Given the description of an element on the screen output the (x, y) to click on. 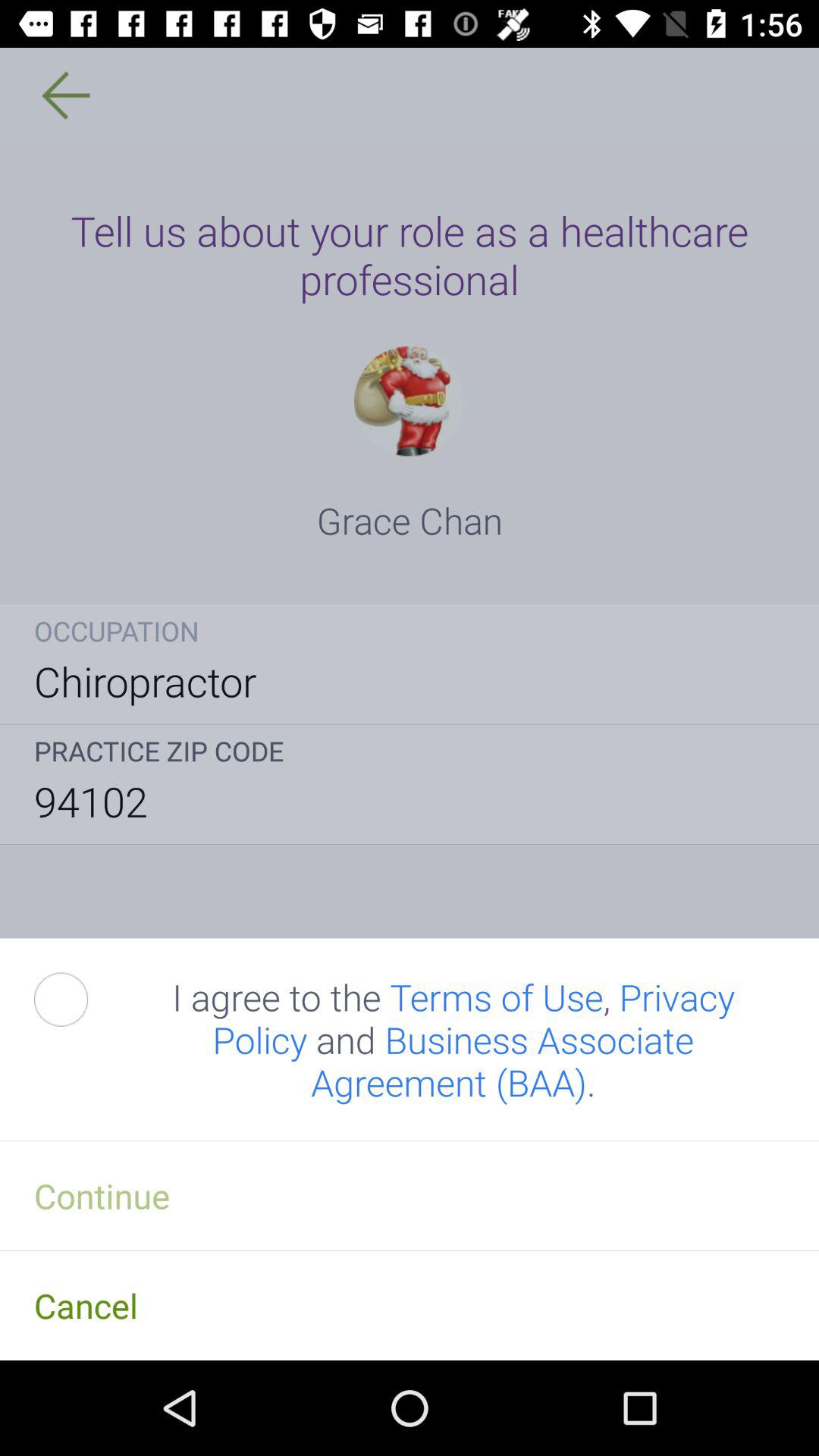
scroll to the cancel (409, 1305)
